Given the description of an element on the screen output the (x, y) to click on. 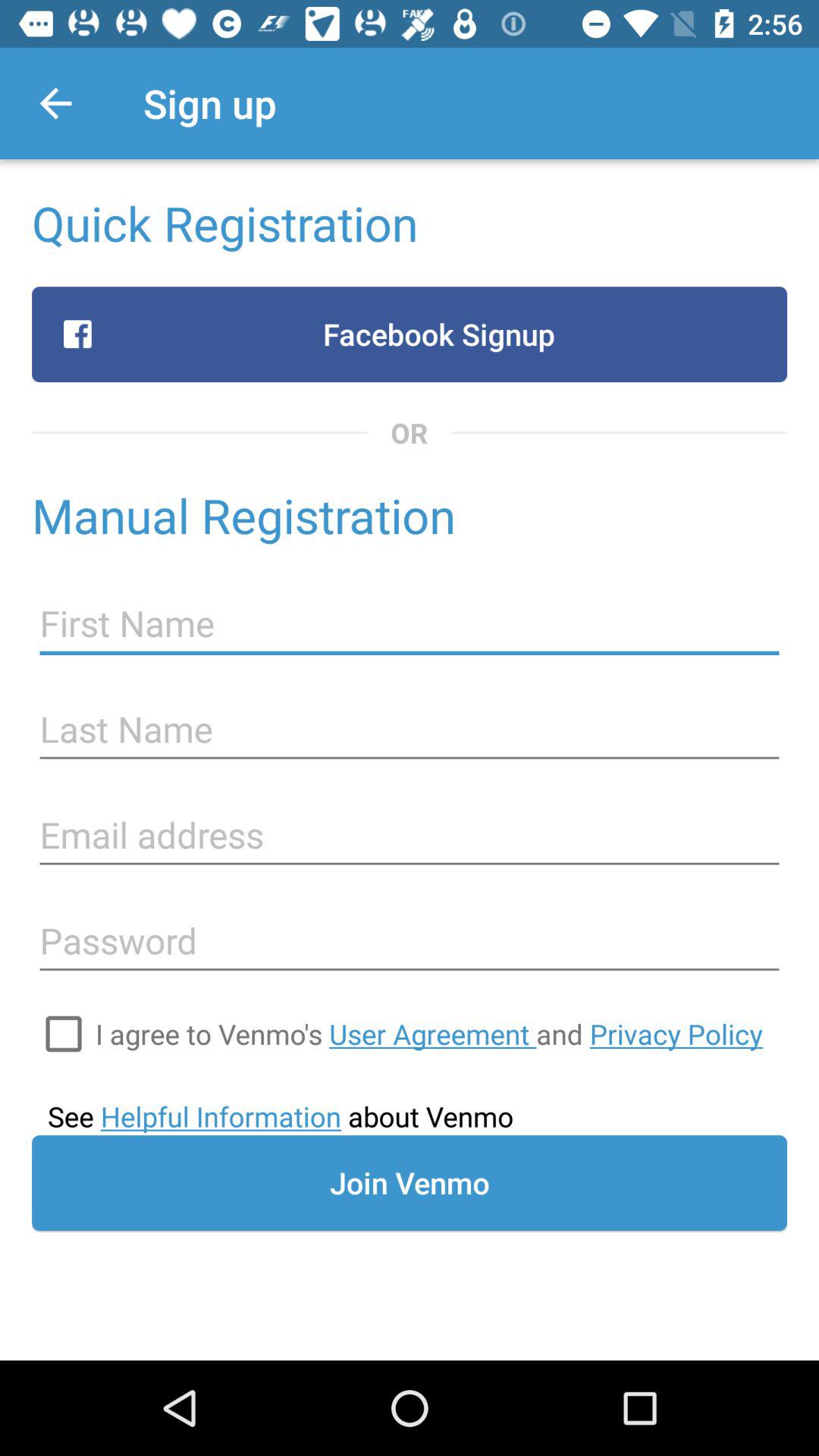
choose the item next to sign up app (55, 103)
